Given the description of an element on the screen output the (x, y) to click on. 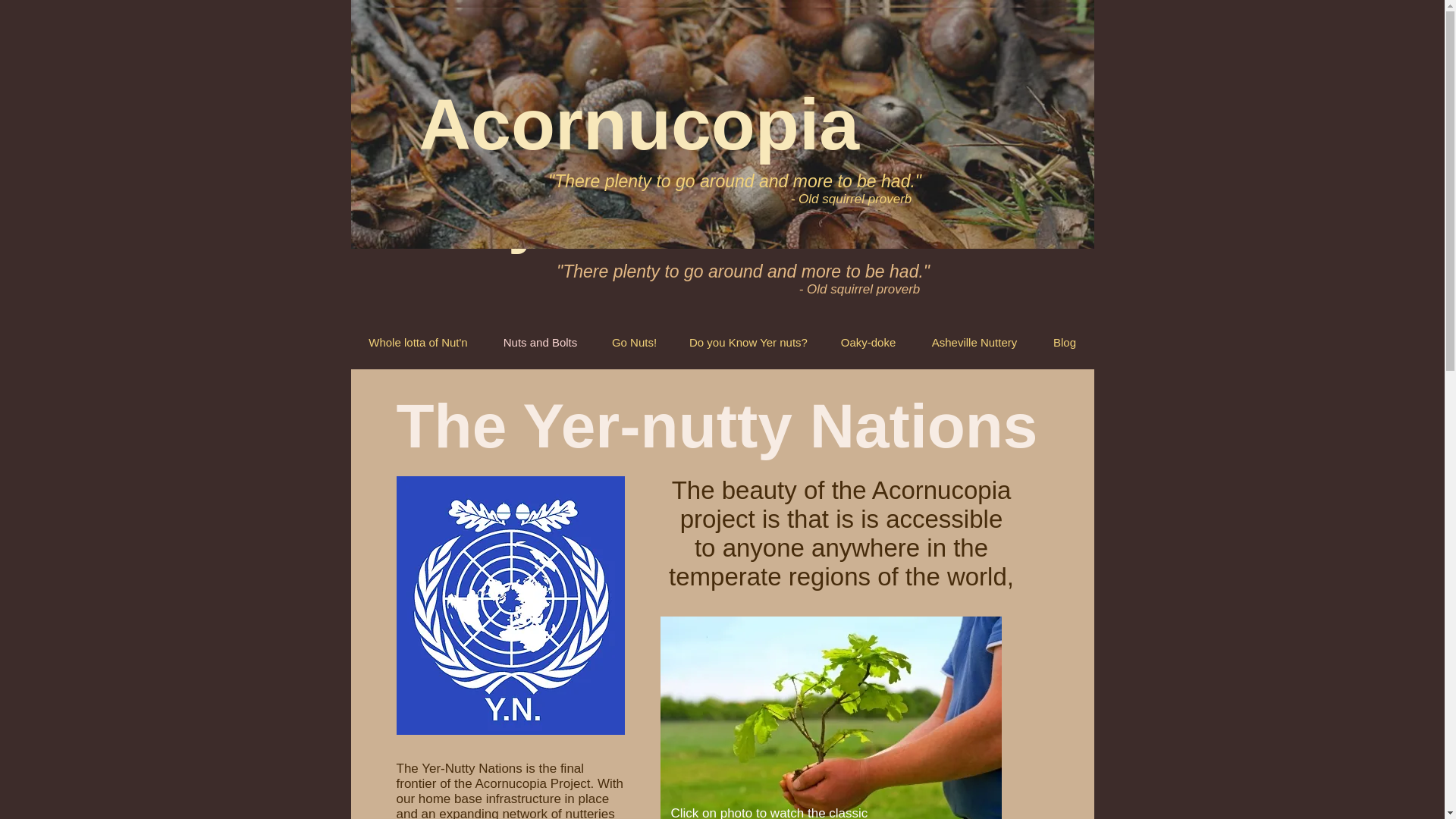
Oaky-doke (869, 342)
Do you Know Yer nuts? (747, 342)
Acornucopia Project (612, 167)
       The Nutty Buddy Collective (596, 51)
Blog (1064, 342)
Nuts and Bolts (539, 342)
Asheville Nuttery (973, 342)
Acornucopia  (649, 124)
